Given the description of an element on the screen output the (x, y) to click on. 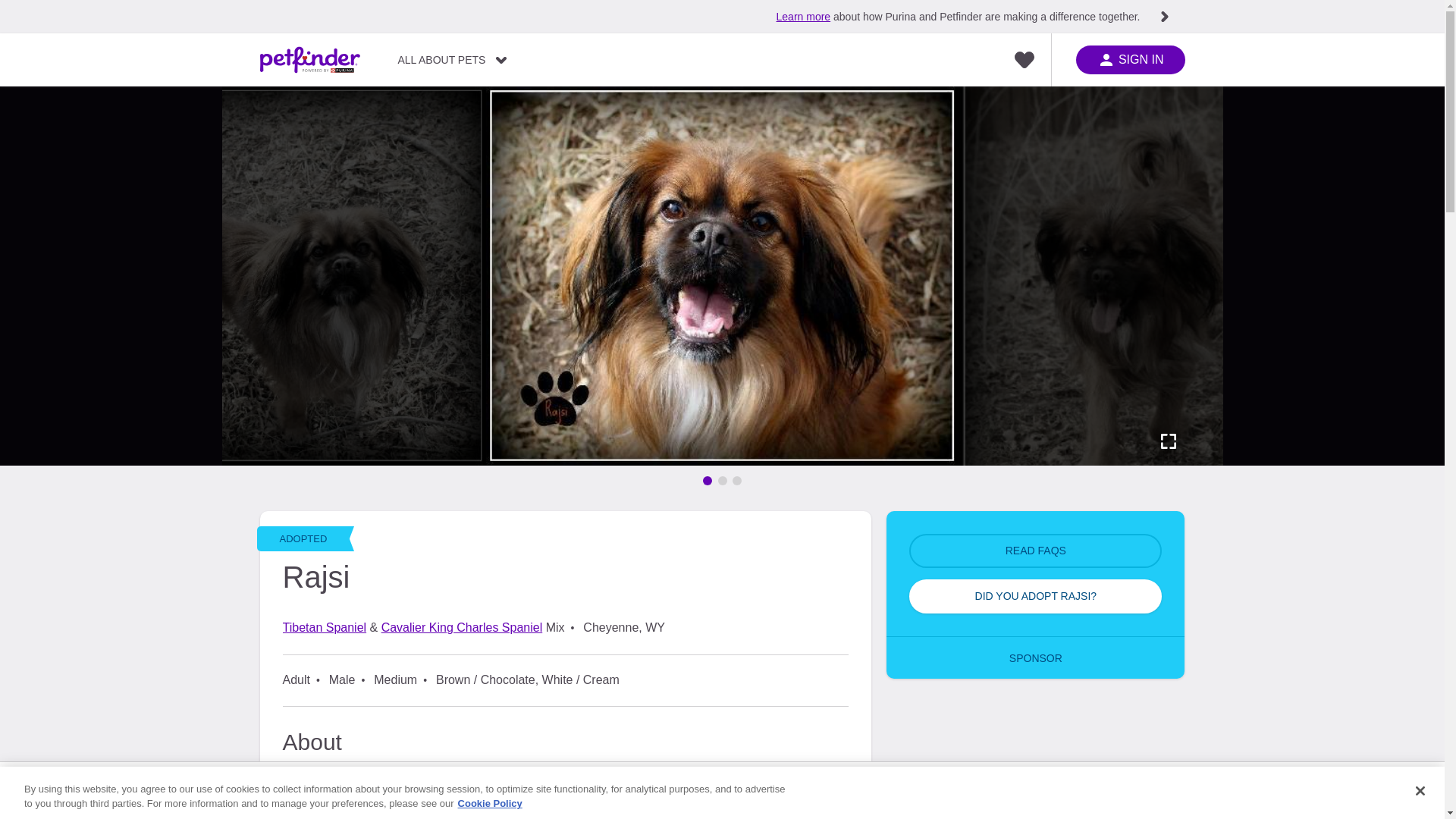
Favorites (1024, 59)
3rd party ad content (1035, 760)
ALL ABOUT PETS (451, 60)
SIGN IN (1130, 59)
Favorites (1024, 59)
